Given the description of an element on the screen output the (x, y) to click on. 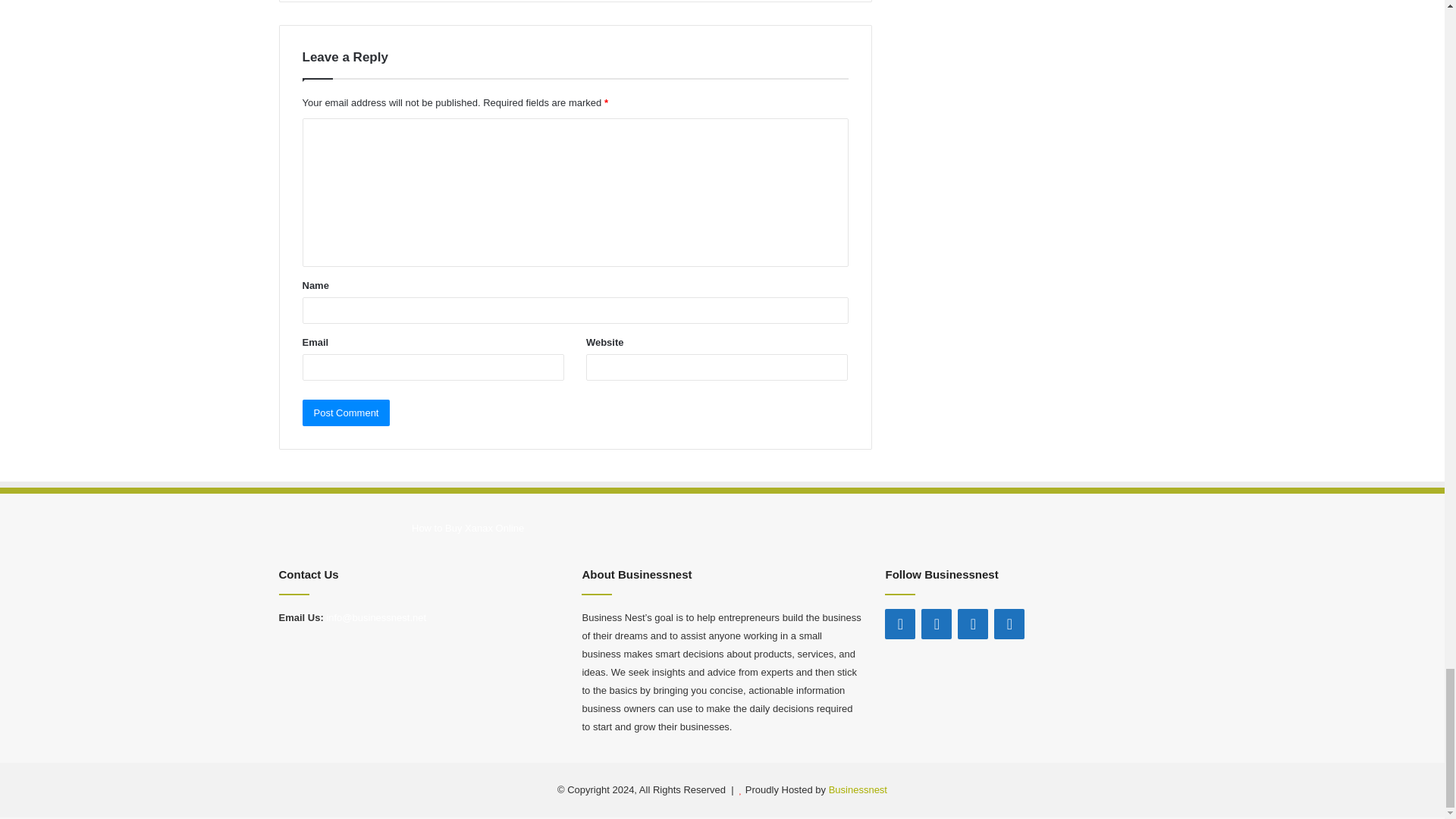
Post Comment (345, 412)
